Given the description of an element on the screen output the (x, y) to click on. 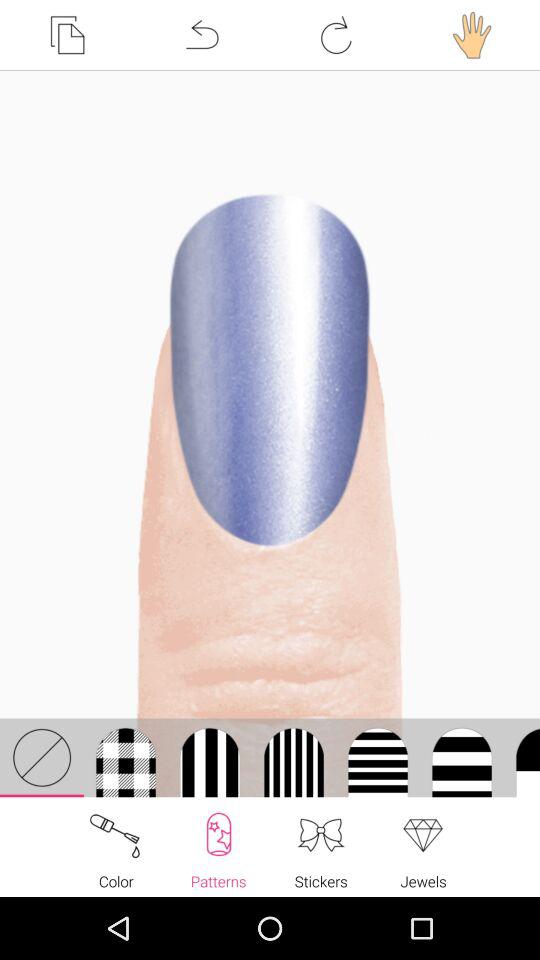
open the icon at the top right corner (472, 35)
